Given the description of an element on the screen output the (x, y) to click on. 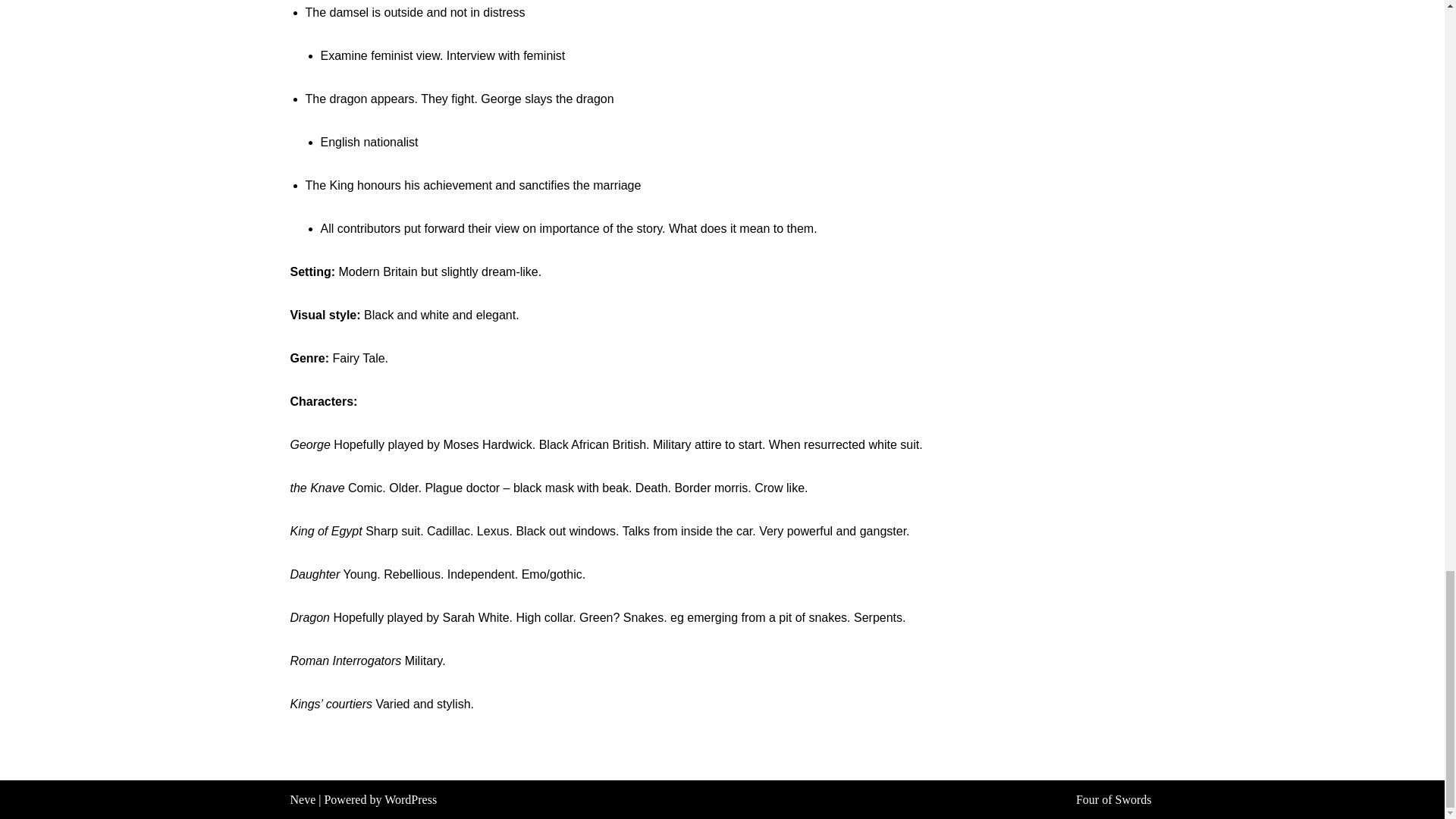
Neve (302, 799)
WordPress (410, 799)
Four of Swords (1113, 799)
